Given the description of an element on the screen output the (x, y) to click on. 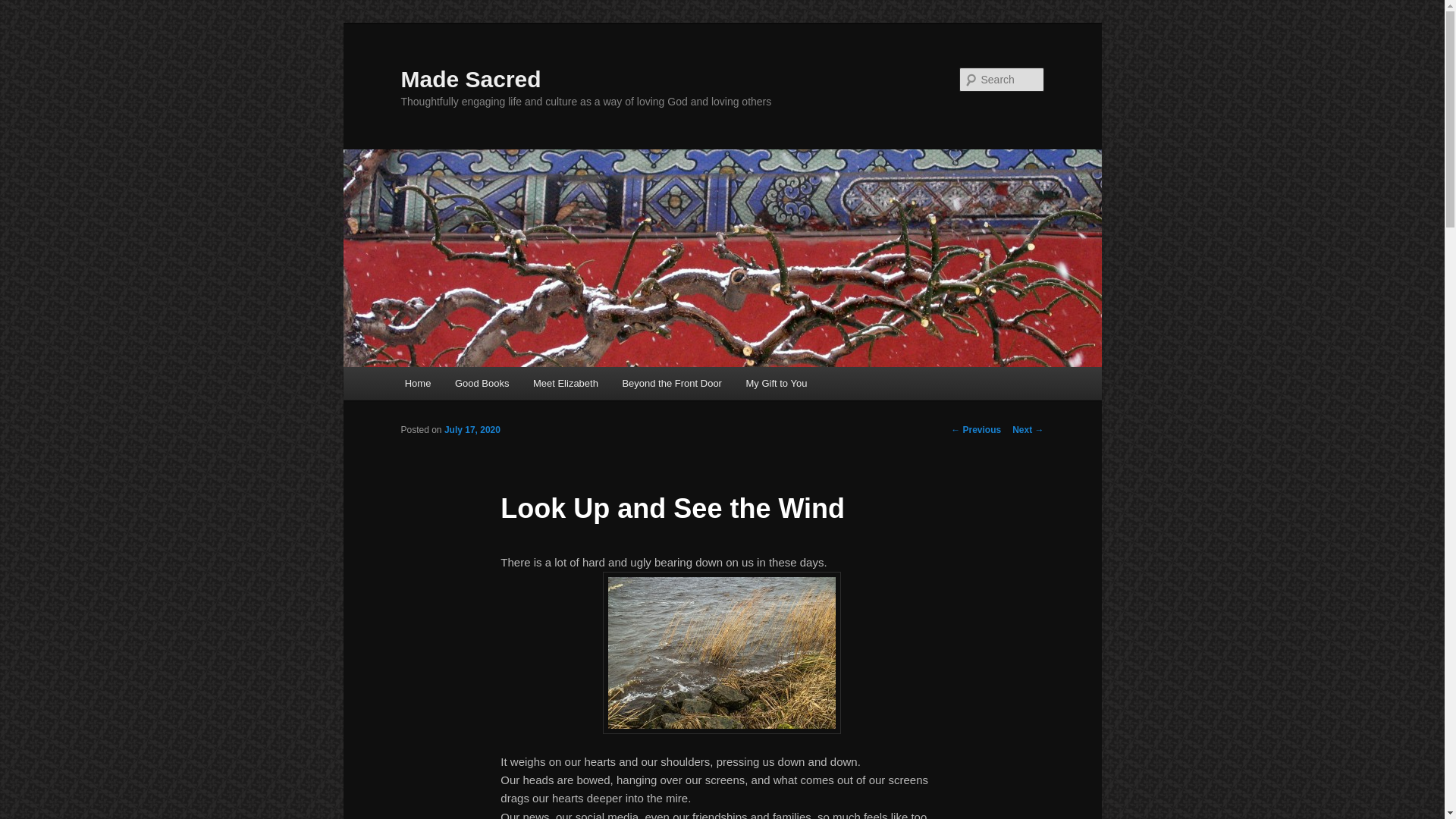
Made Sacred (470, 78)
Beyond the Front Door (671, 382)
My Gift to You (775, 382)
July 17, 2020 (472, 429)
9:30 am (472, 429)
Good Books (481, 382)
Home (417, 382)
Search (24, 8)
Meet Elizabeth (565, 382)
